Given the description of an element on the screen output the (x, y) to click on. 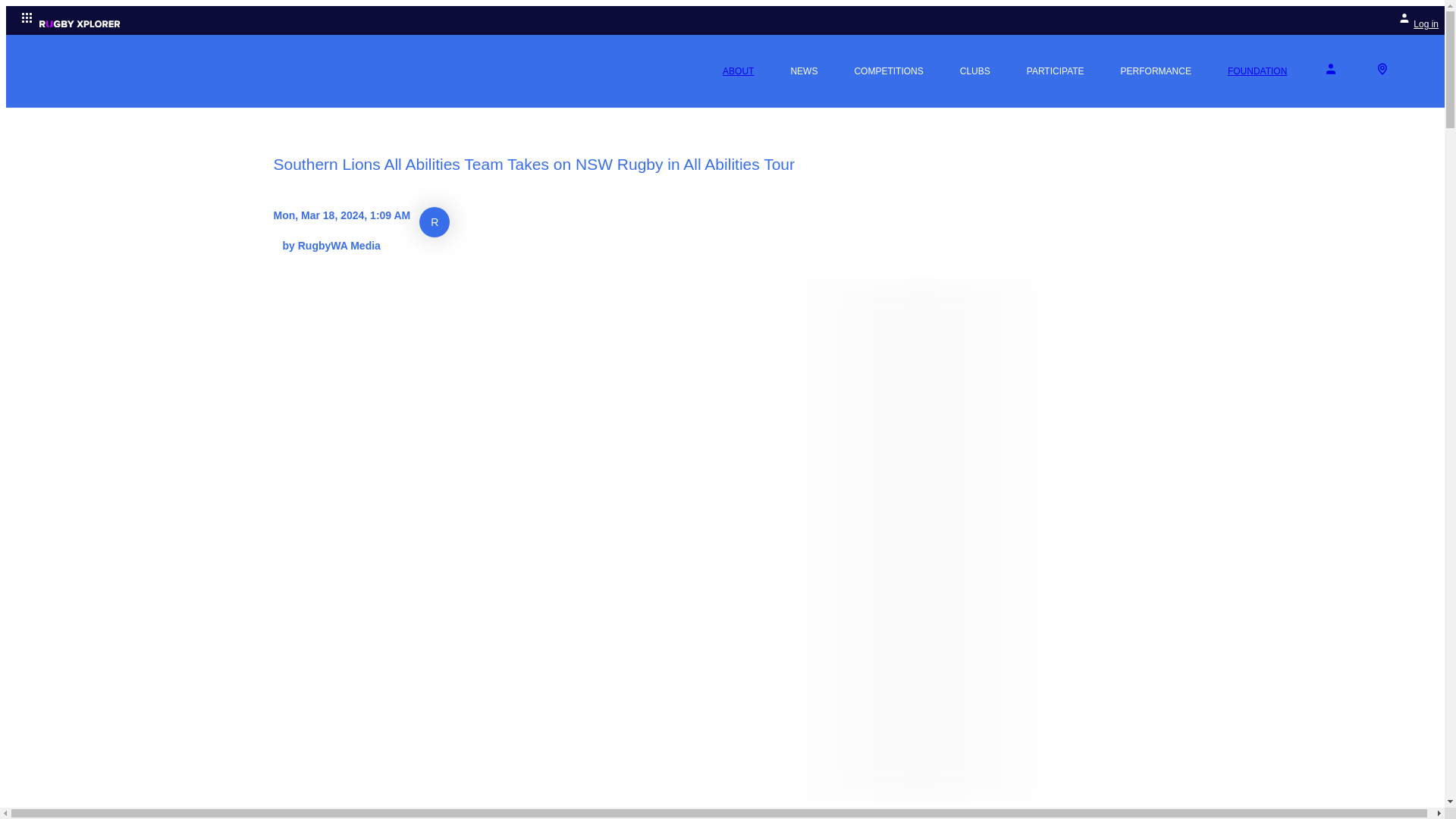
user (1330, 69)
mapPin (1382, 69)
RugbyWA Media  (434, 222)
